Given the description of an element on the screen output the (x, y) to click on. 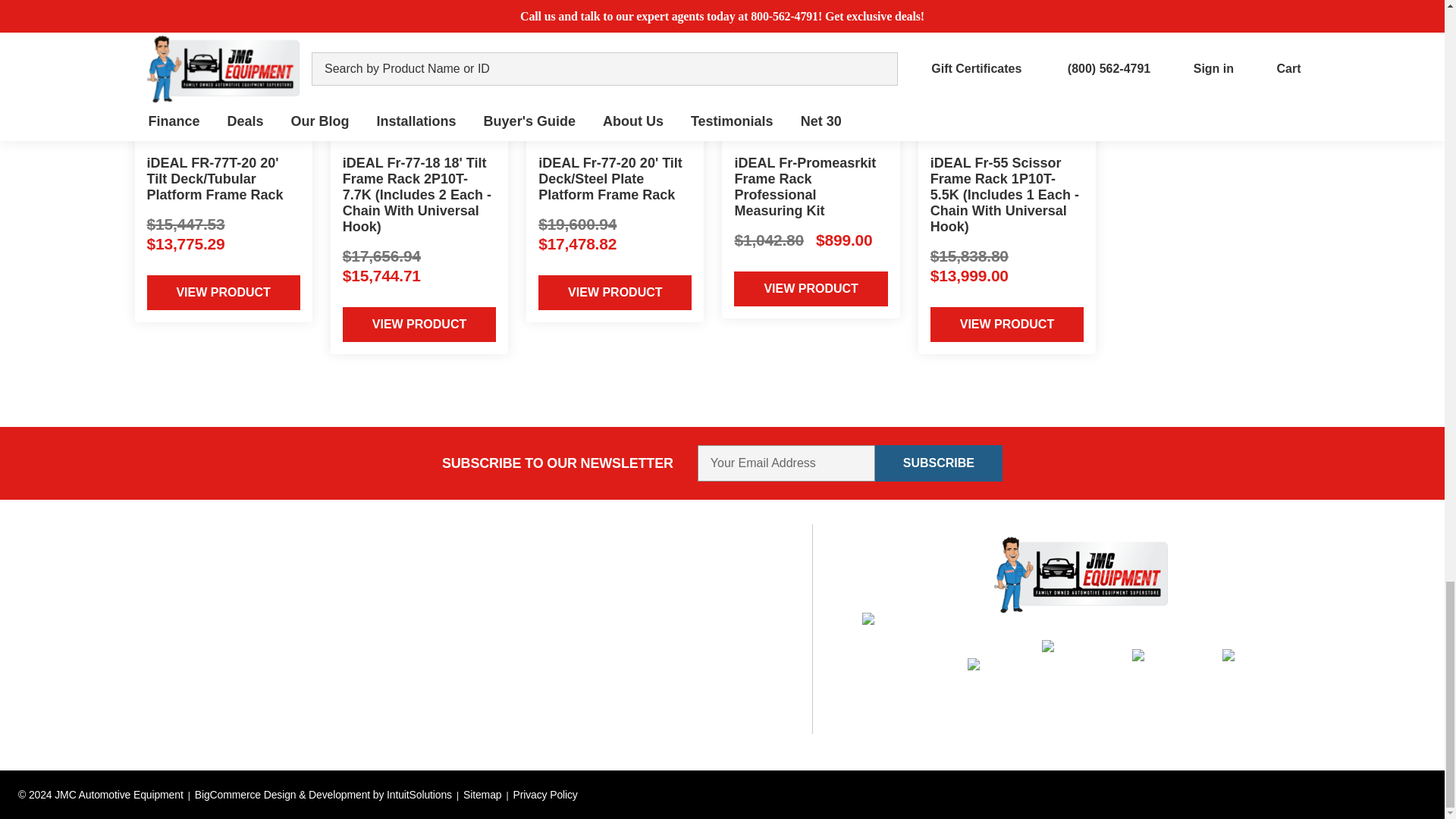
iDEAL Fr-Promeasrkit Frame Rack Professional Measuring Kit (810, 72)
iDEAL FR-77T-20 20' Tilt DeckTubular Platform Frame Rack (222, 72)
Subscribe (939, 463)
JMC Automotive Equipment  (1080, 574)
